Given the description of an element on the screen output the (x, y) to click on. 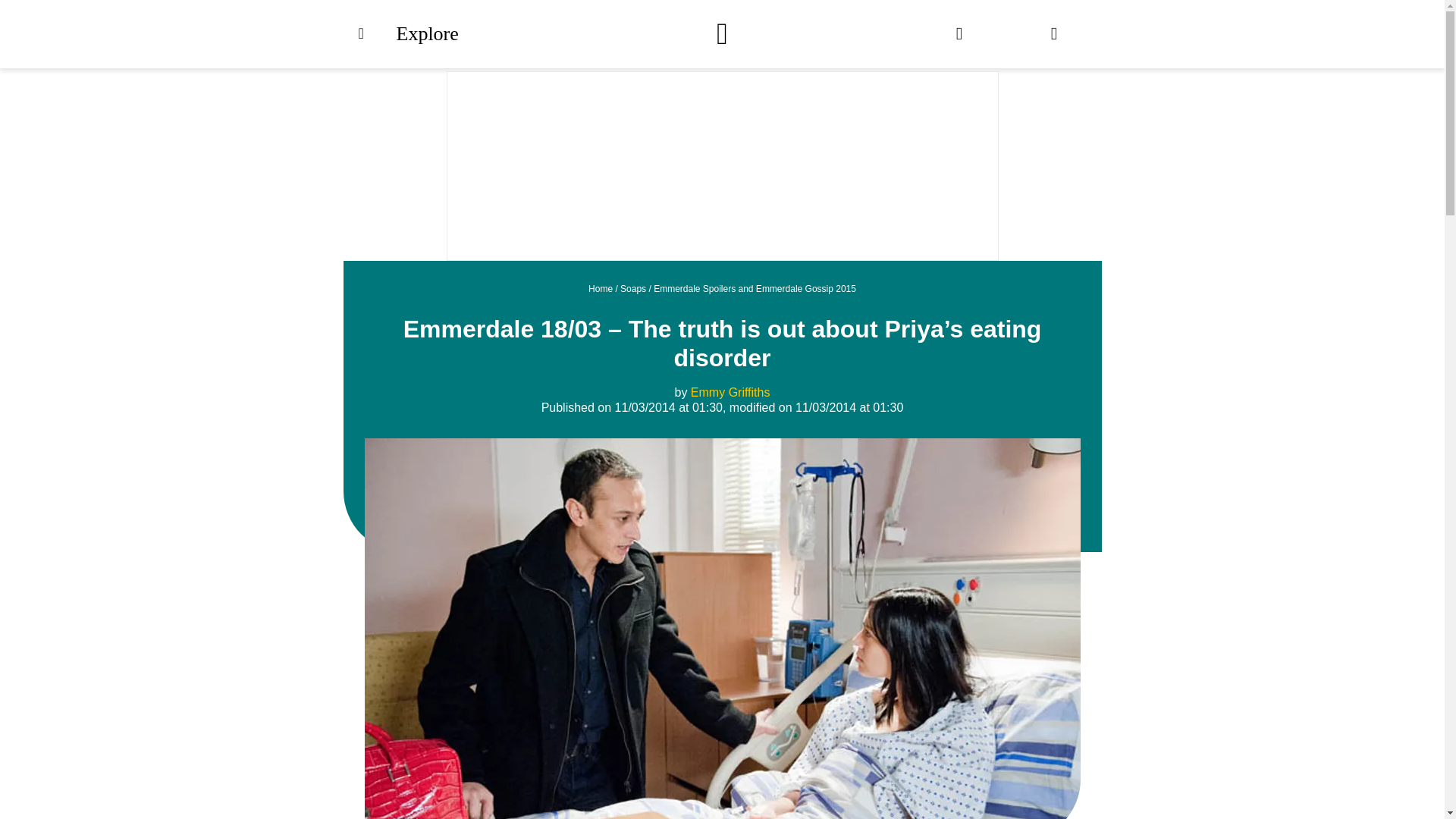
Soaps (633, 288)
Emmerdale Spoilers and Emmerdale Gossip 2015 (754, 288)
Home (600, 288)
Emmy Griffiths (730, 391)
